Given the description of an element on the screen output the (x, y) to click on. 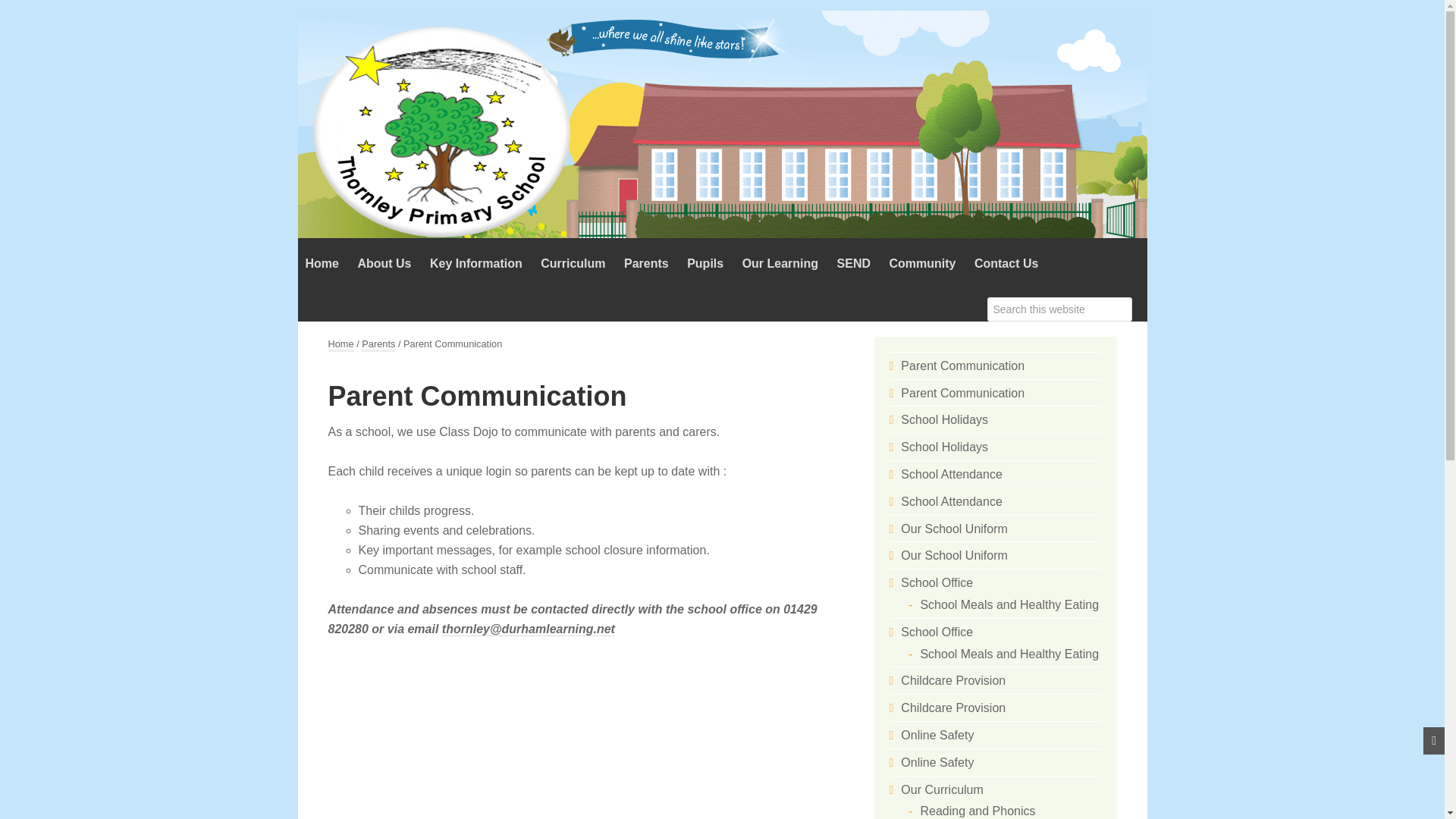
Parents (646, 264)
Our Learning (780, 264)
Key Information (475, 264)
Pupils (704, 264)
About Us (384, 264)
Curriculum (572, 264)
Home (321, 264)
